Given the description of an element on the screen output the (x, y) to click on. 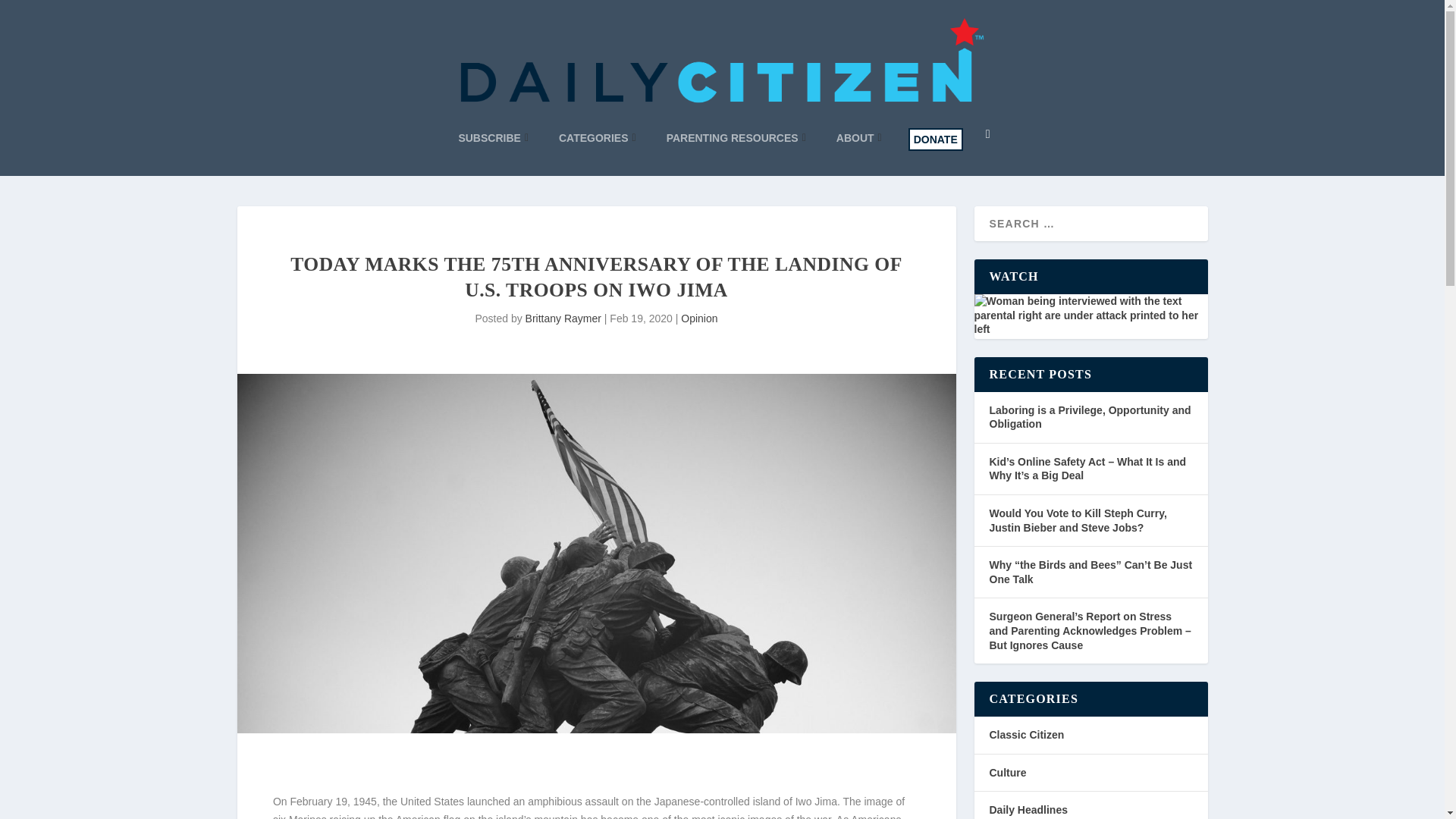
SUBSCRIBE (493, 137)
Posts by Brittany Raymer (563, 318)
Brittany Raymer (563, 318)
WATCH (1090, 314)
ABOUT (858, 137)
DONATE (935, 138)
PARENTING RESOURCES (735, 137)
CATEGORIES (597, 137)
